Given the description of an element on the screen output the (x, y) to click on. 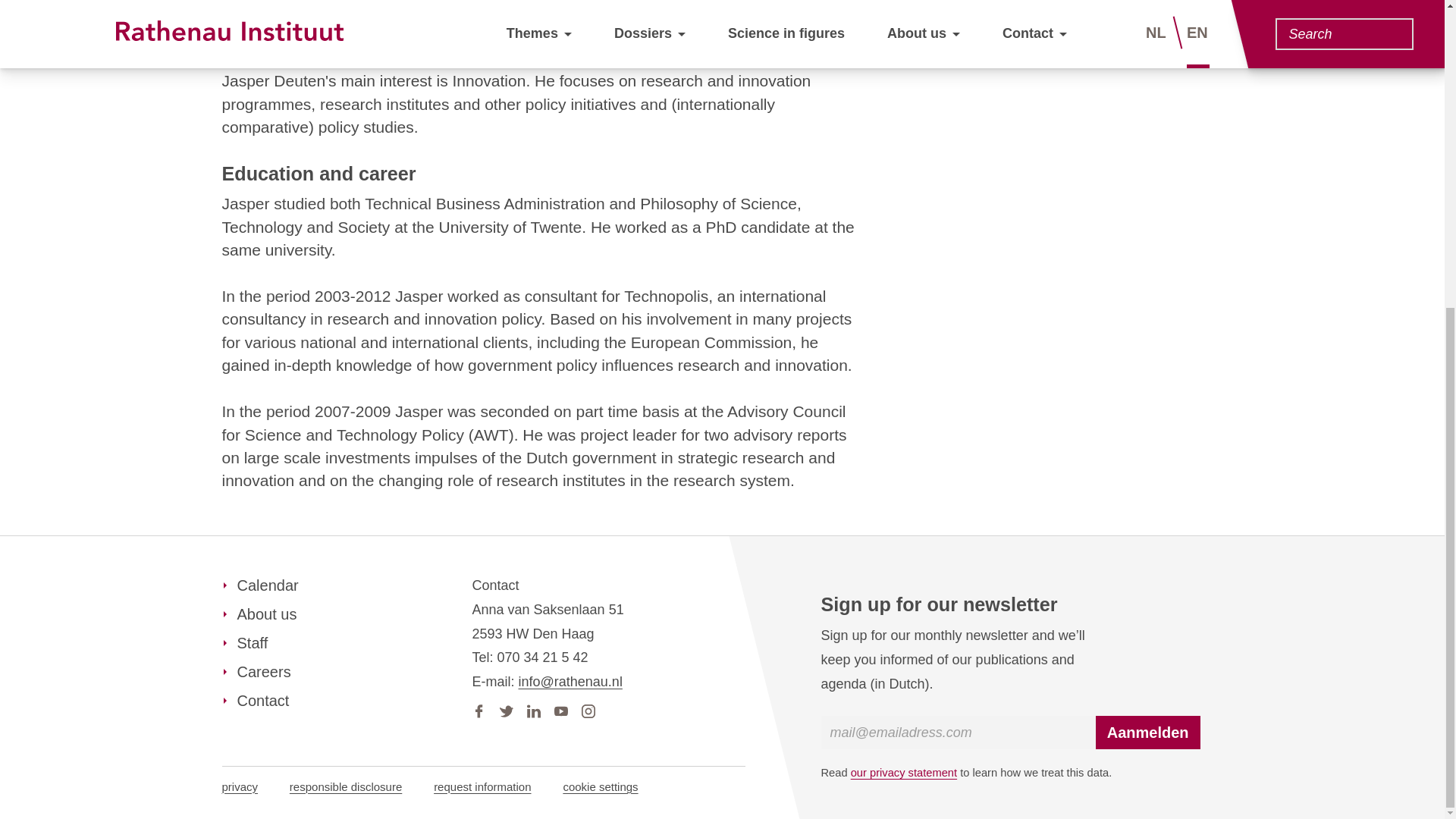
Rathenau LinkedIn (532, 708)
Calendar (259, 585)
Rathenau Twitter (505, 708)
Staff (244, 642)
Contact (254, 700)
Careers (255, 671)
Rathenau Facebook (477, 708)
About us (259, 613)
